Given the description of an element on the screen output the (x, y) to click on. 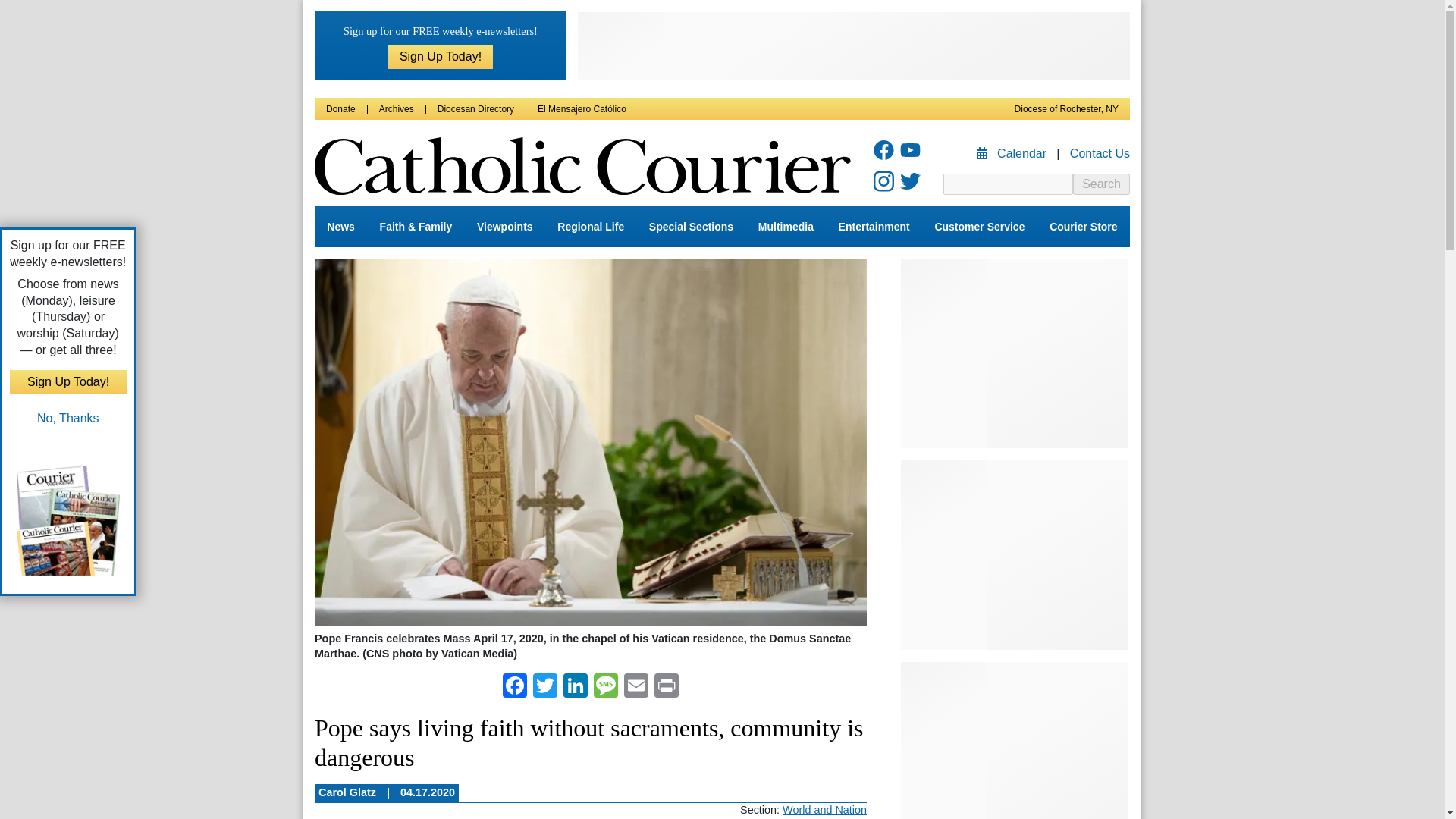
Search (1101, 183)
Sign Up Today! (440, 56)
Search (1101, 183)
Donate (340, 108)
Email (635, 687)
Diocese of Rochester, NY (1066, 108)
Twitter (544, 687)
  Calendar (1012, 153)
Regional Life (590, 226)
